Given the description of an element on the screen output the (x, y) to click on. 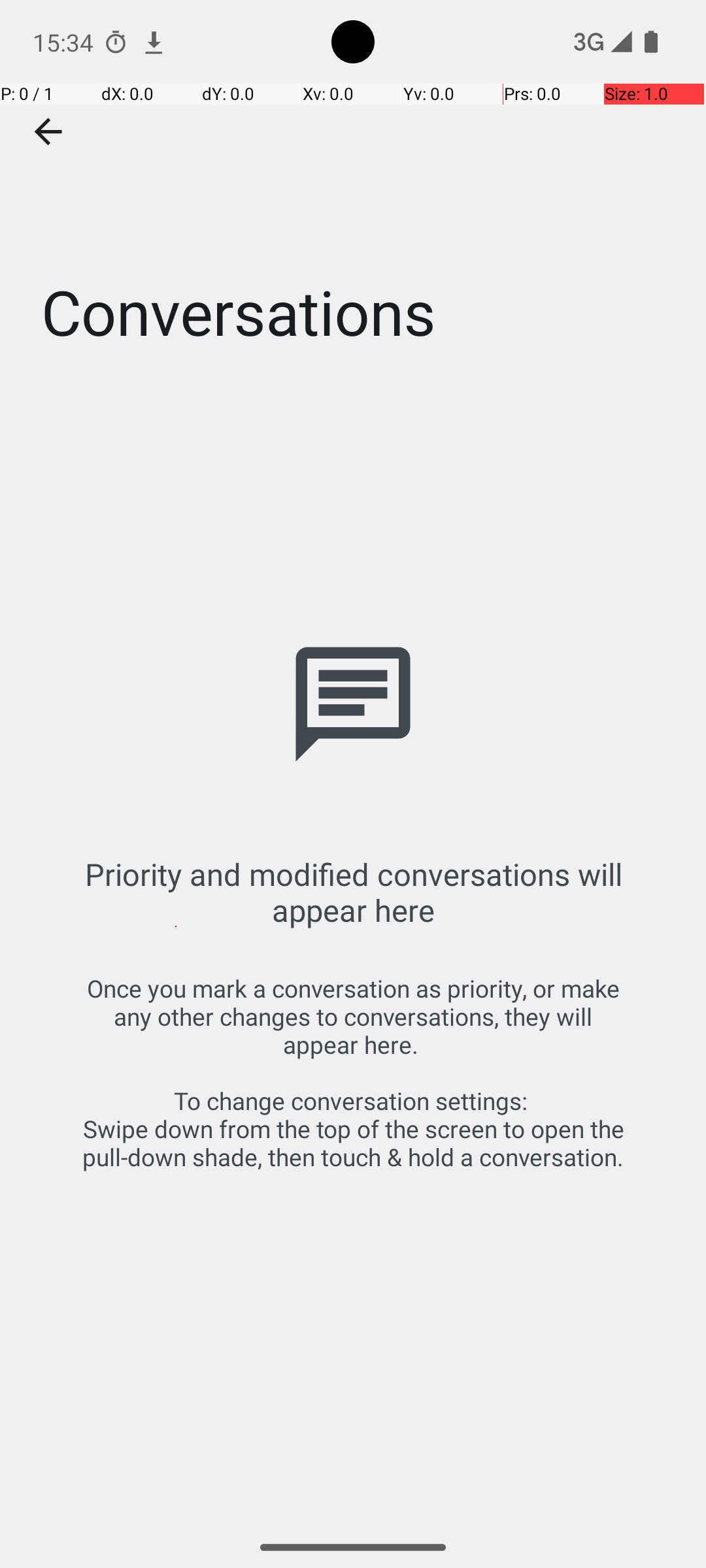
Priority and modified conversations will appear here Element type: android.widget.TextView (352, 891)
Once you mark a conversation as priority, or make any other changes to conversations, they will appear here. 

To change conversation settings: 
Swipe down from the top of the screen to open the pull-down shade, then touch & hold a conversation. Element type: android.widget.TextView (352, 1072)
